Given the description of an element on the screen output the (x, y) to click on. 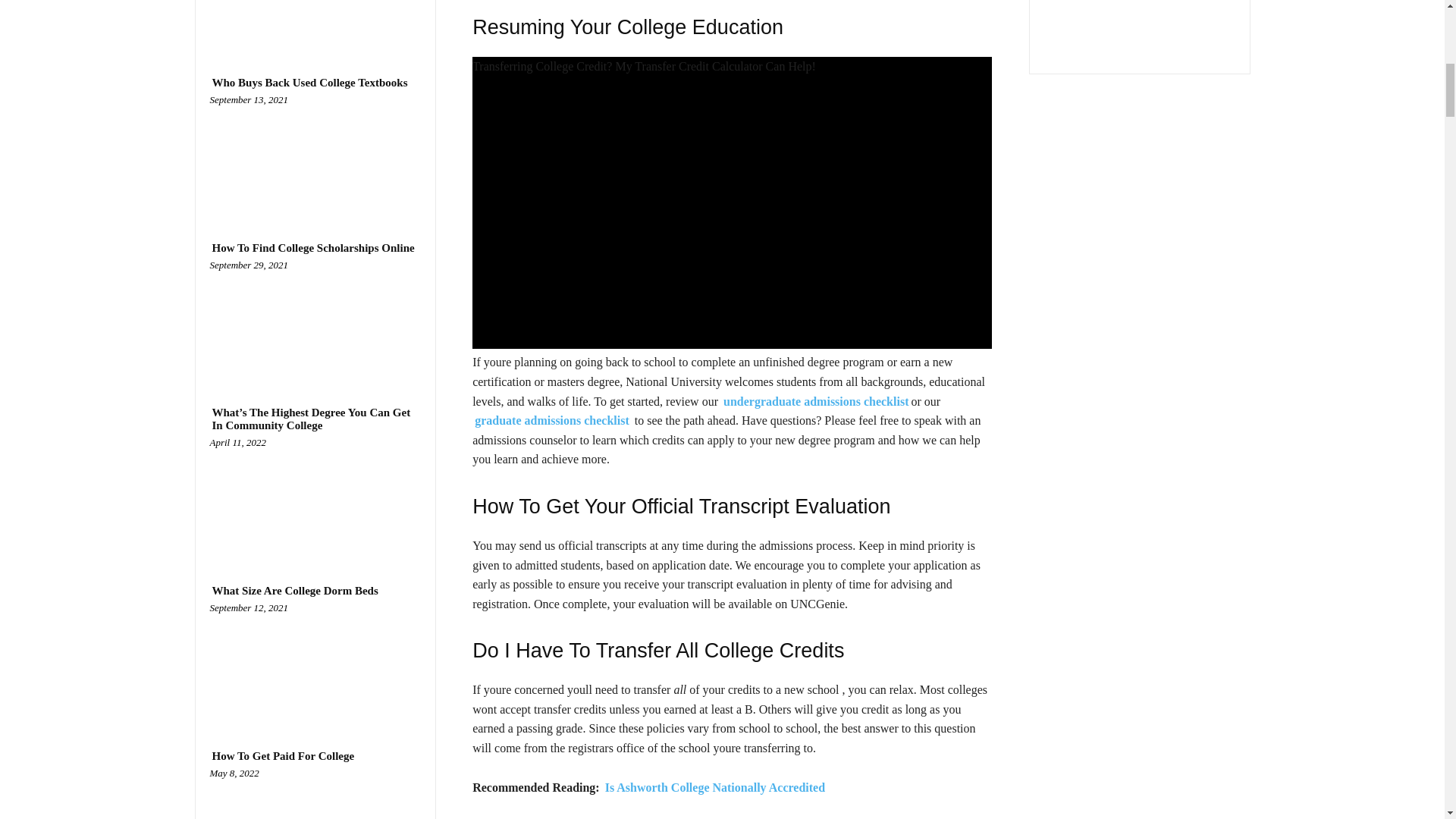
How To Join Air Force After College (314, 21)
Who Buys Back Used College Textbooks (314, 155)
Who Buys Back Used College Textbooks (309, 82)
